Given the description of an element on the screen output the (x, y) to click on. 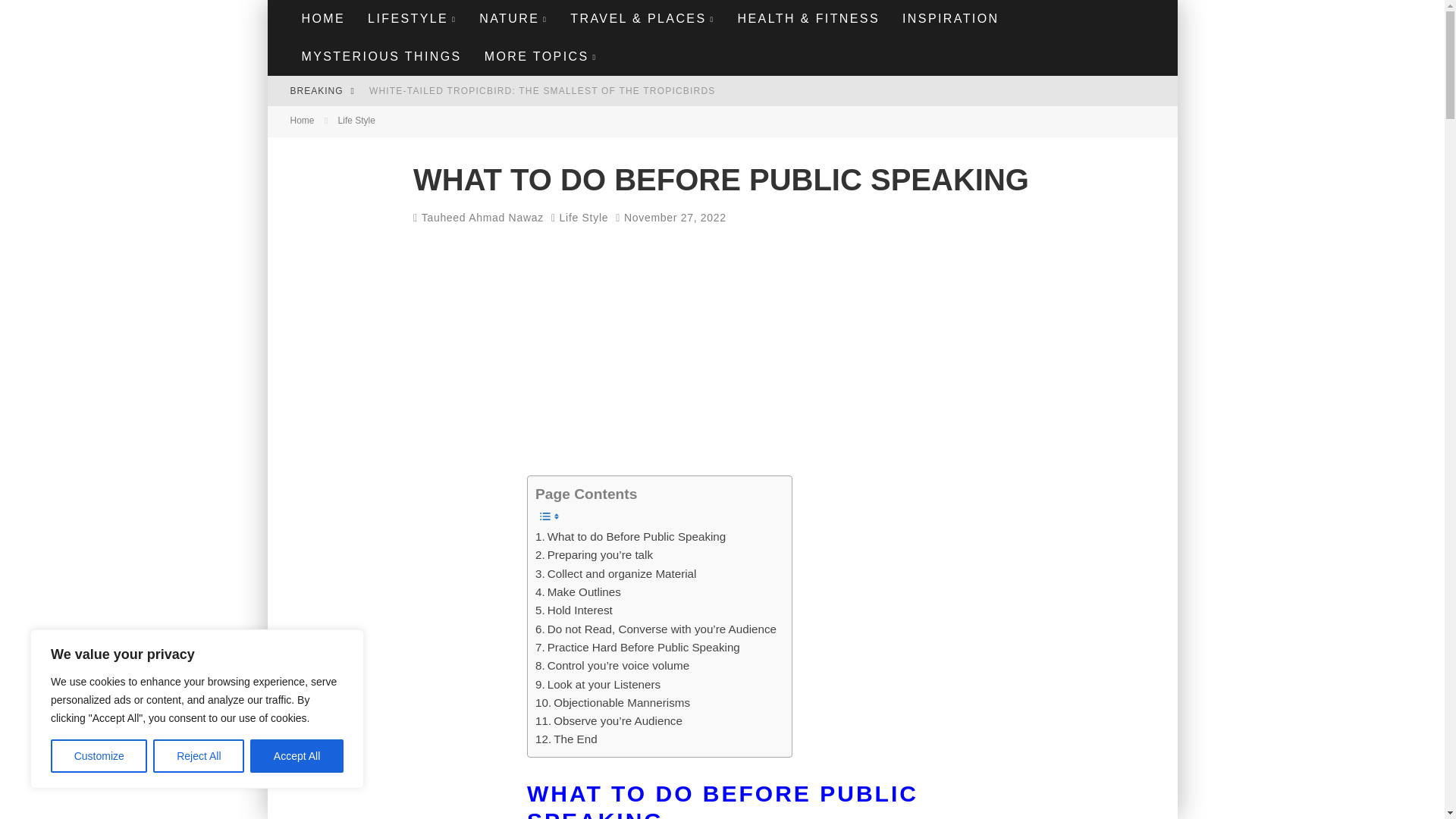
Collect and organize Material (615, 574)
LIFESTYLE (411, 18)
Practice Hard Before Public Speaking (637, 647)
HOME (322, 18)
White-tailed Tropicbird: The smallest of the tropicbirds (542, 90)
Hold Interest (573, 610)
Advertisement (778, 363)
Accept All (296, 756)
Customize (98, 756)
What to do Before Public Speaking (630, 536)
Make Outlines (578, 592)
Reject All (198, 756)
NATURE (513, 18)
